Given the description of an element on the screen output the (x, y) to click on. 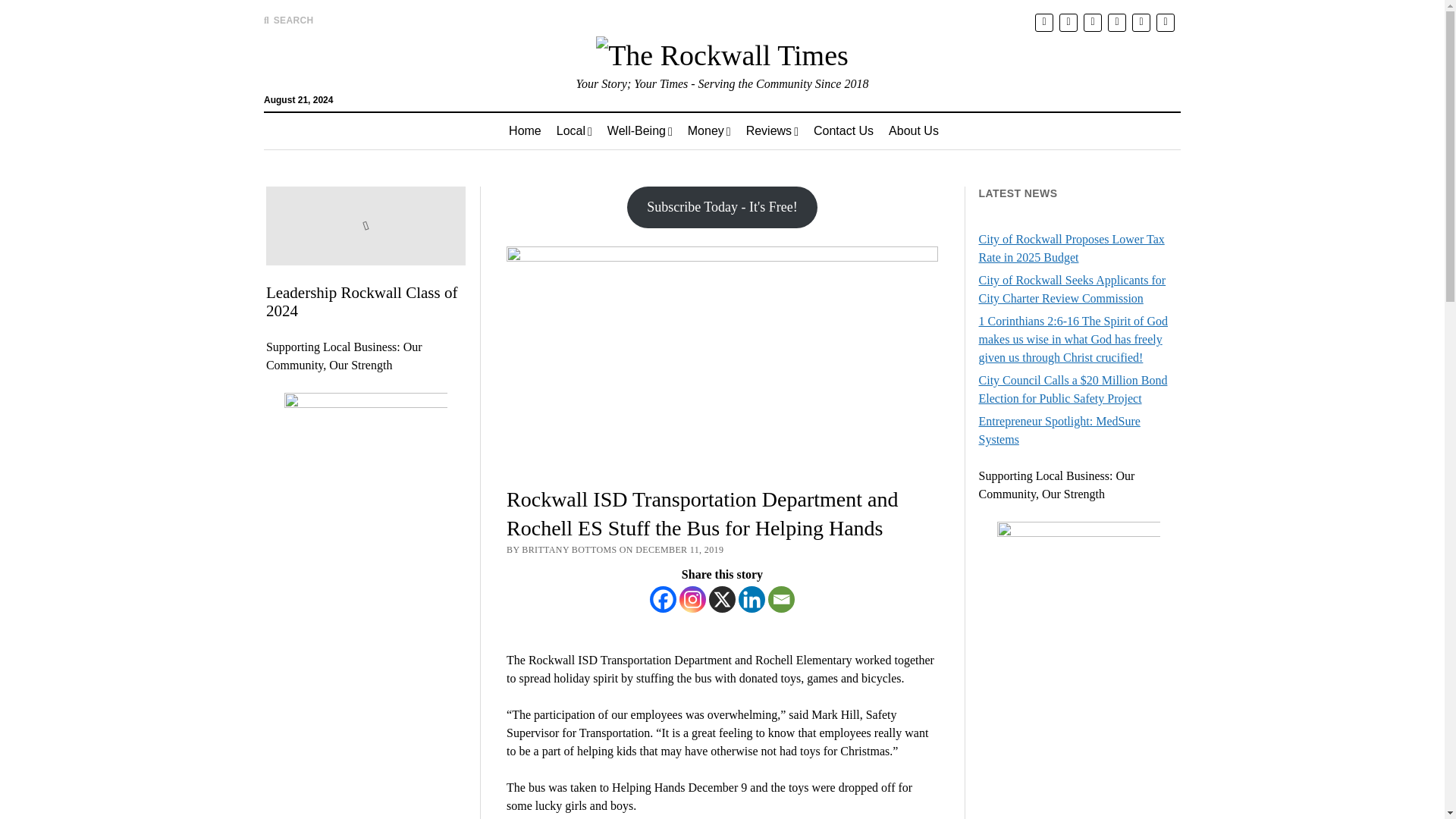
Money (708, 131)
phone (1165, 22)
Linkedin (751, 599)
Facebook (663, 599)
Home (524, 131)
Well-Being (639, 131)
Reviews (772, 131)
Instagram (692, 599)
SEARCH (288, 20)
Email (781, 599)
